Given the description of an element on the screen output the (x, y) to click on. 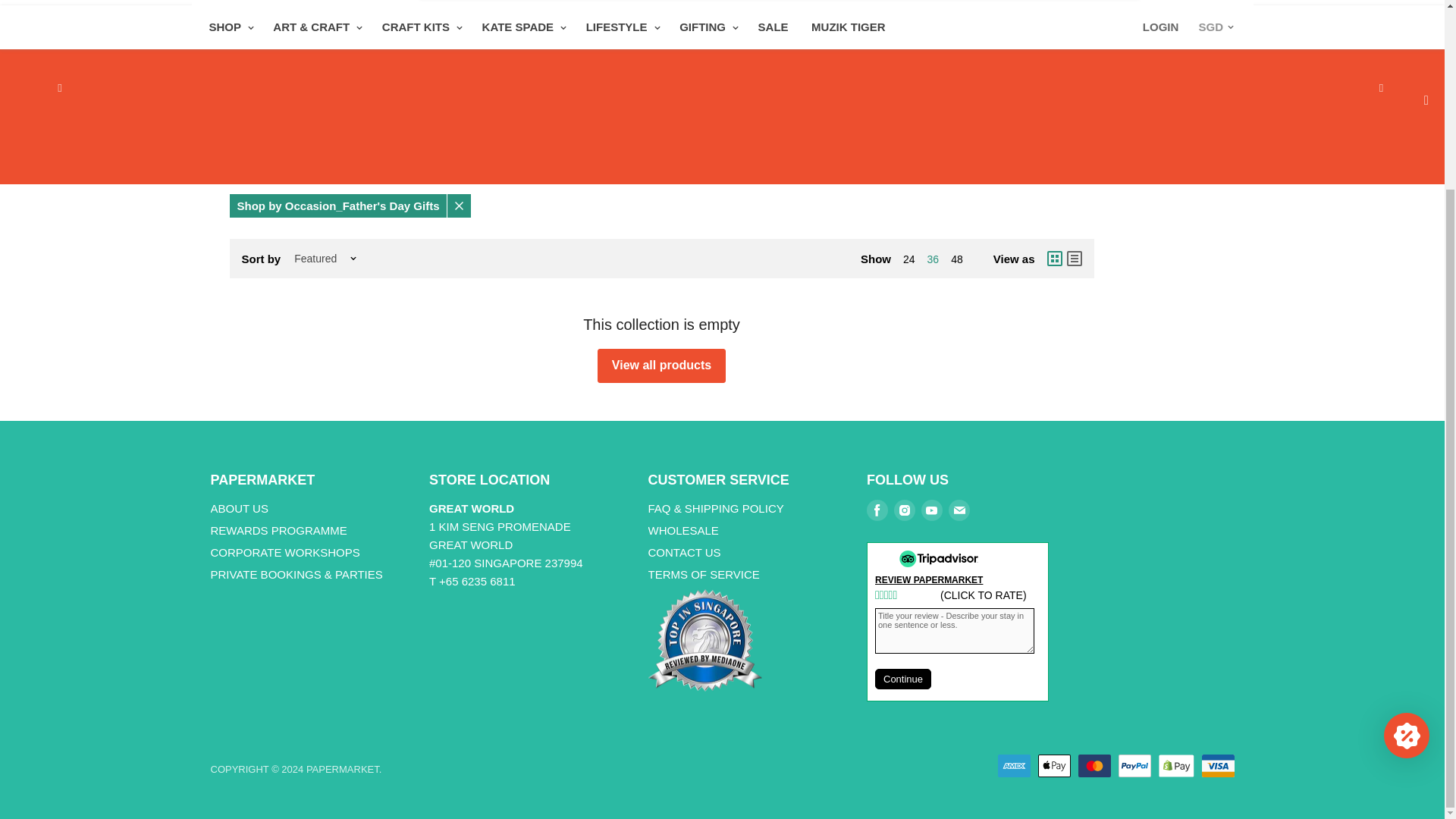
Facebook (877, 510)
E-mail (958, 510)
Instagram (904, 510)
SHOP (228, 27)
Youtube (931, 510)
Continue (903, 679)
